Given the description of an element on the screen output the (x, y) to click on. 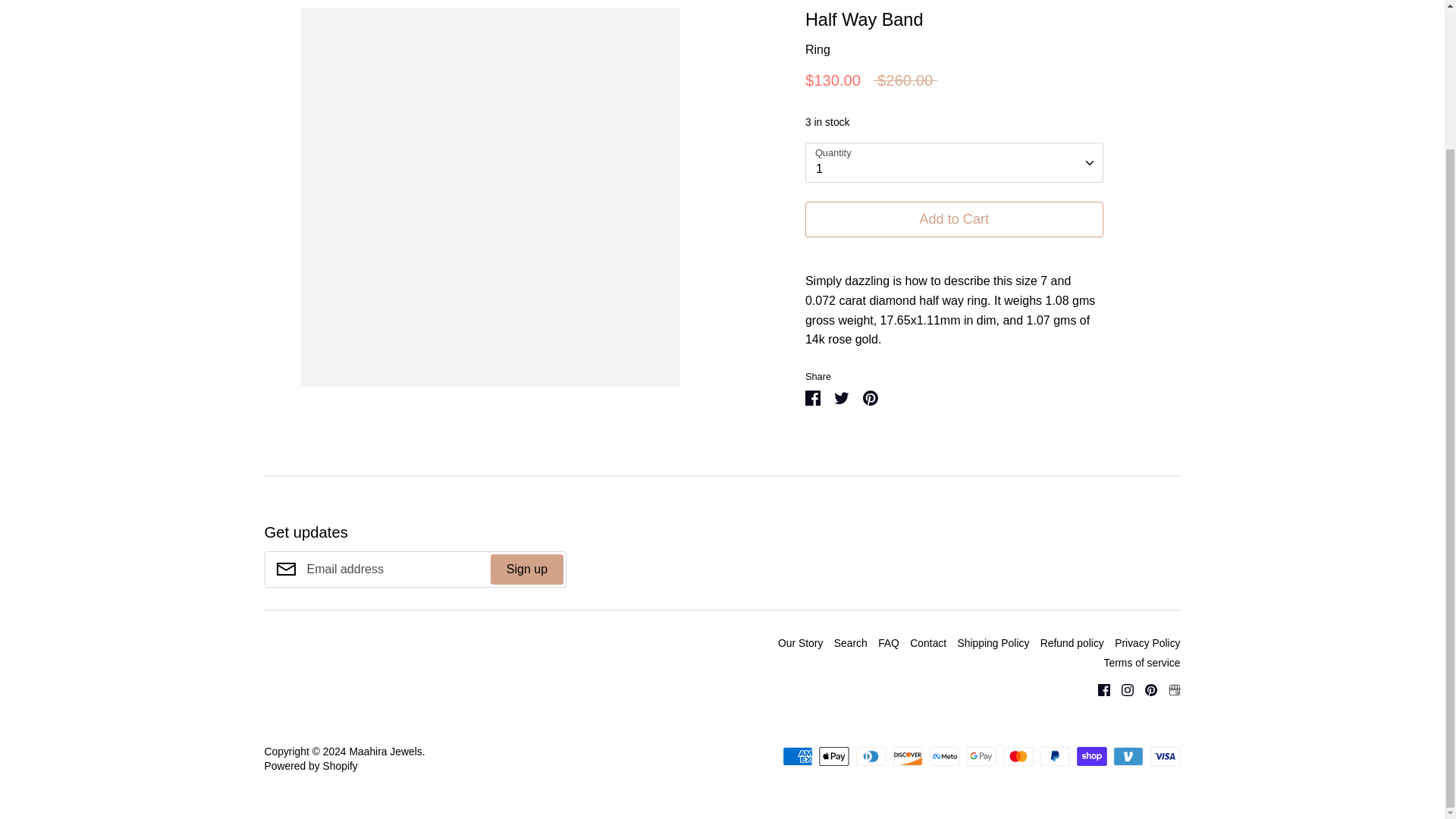
Sign up (526, 569)
Meta Pay (944, 755)
1 (954, 161)
Search (850, 643)
PayPal (1054, 755)
Our Story (799, 643)
Apple Pay (833, 755)
Share on Facebook (813, 395)
Venmo (1127, 755)
Share on Twitter (841, 395)
